Given the description of an element on the screen output the (x, y) to click on. 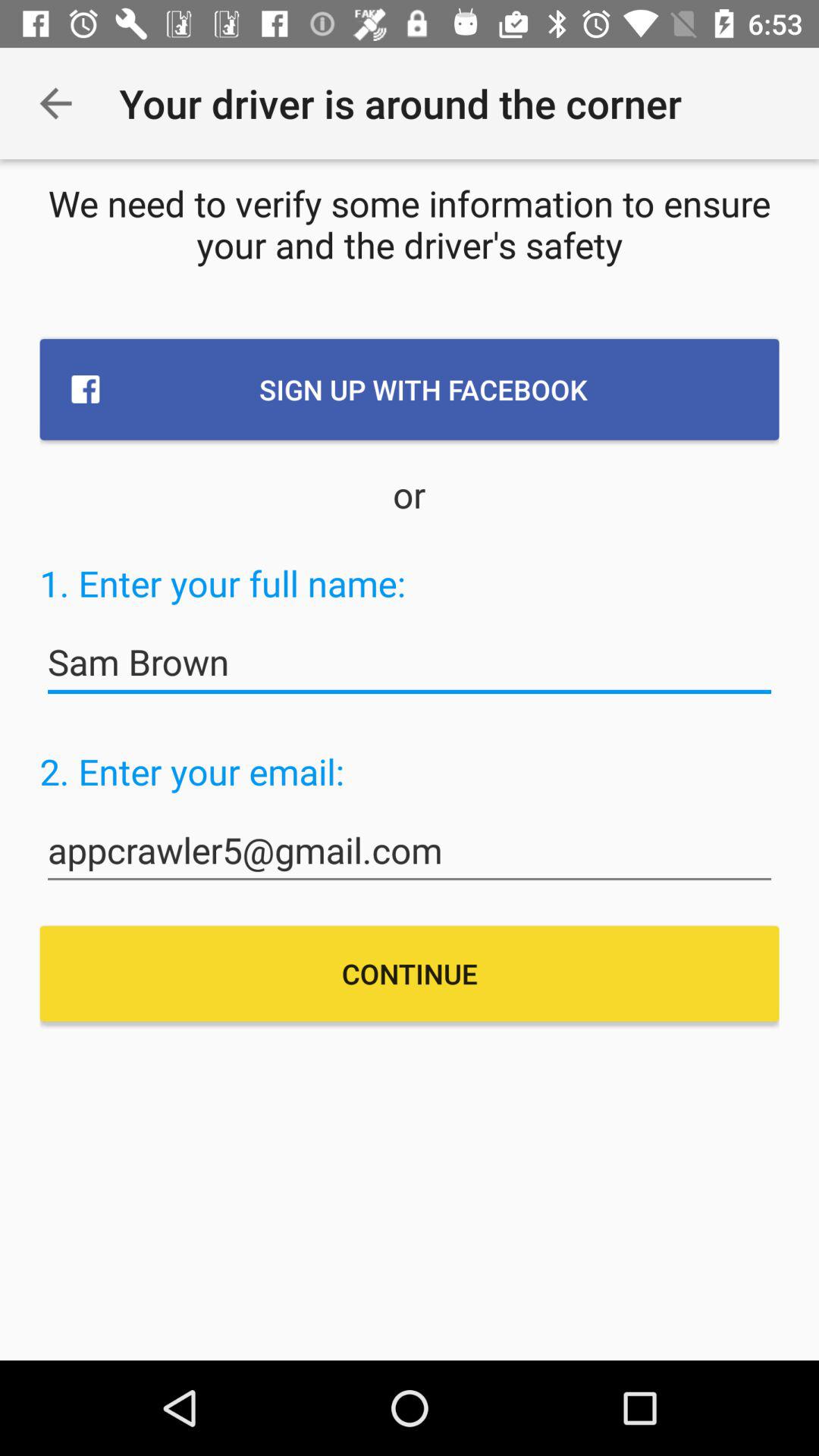
turn on icon above the we need to item (55, 103)
